Given the description of an element on the screen output the (x, y) to click on. 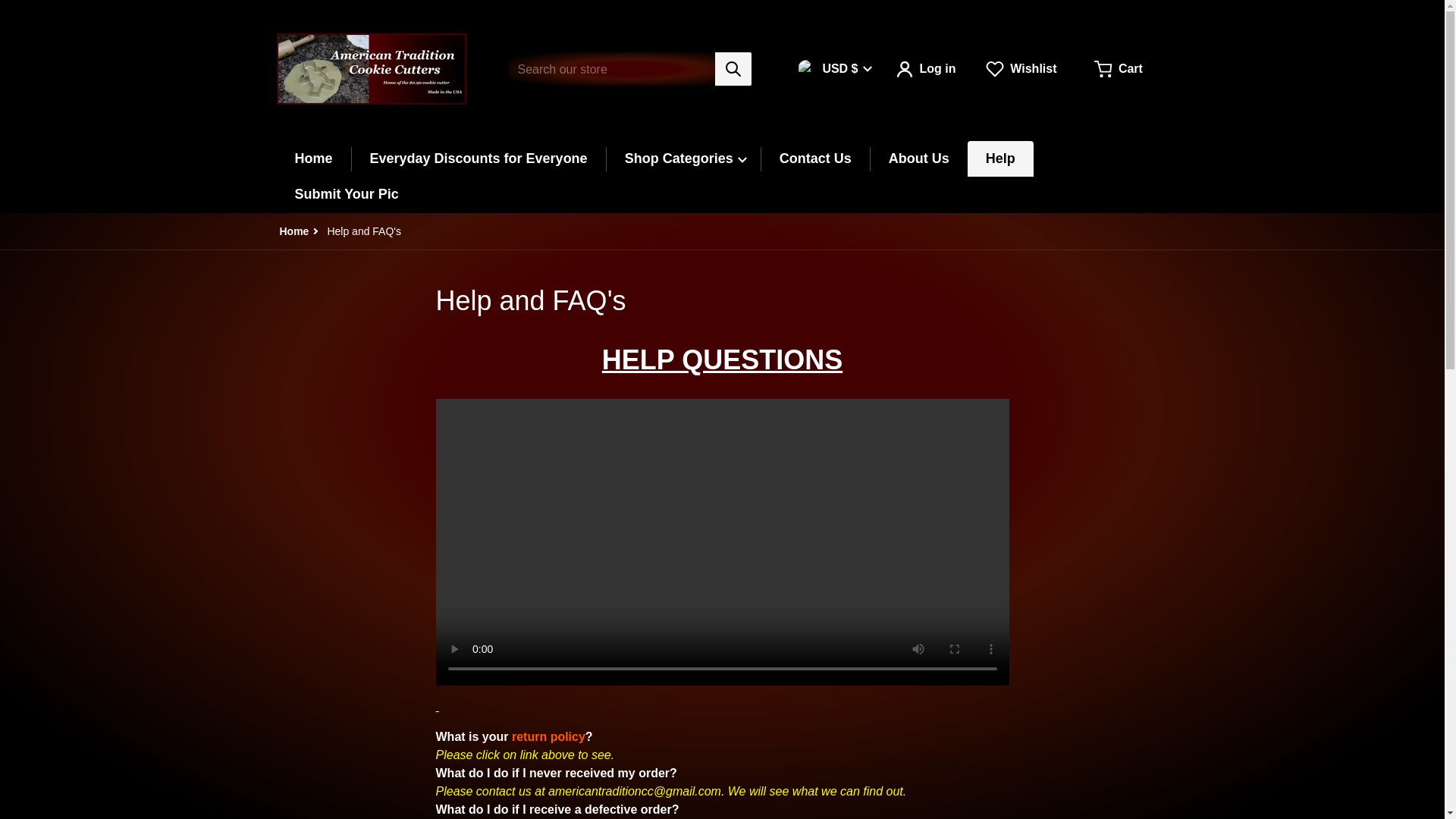
Cart (1118, 69)
Wishlist (1022, 69)
Log in (925, 69)
returns refunds (548, 736)
Home page (293, 231)
Log in (925, 69)
